Given the description of an element on the screen output the (x, y) to click on. 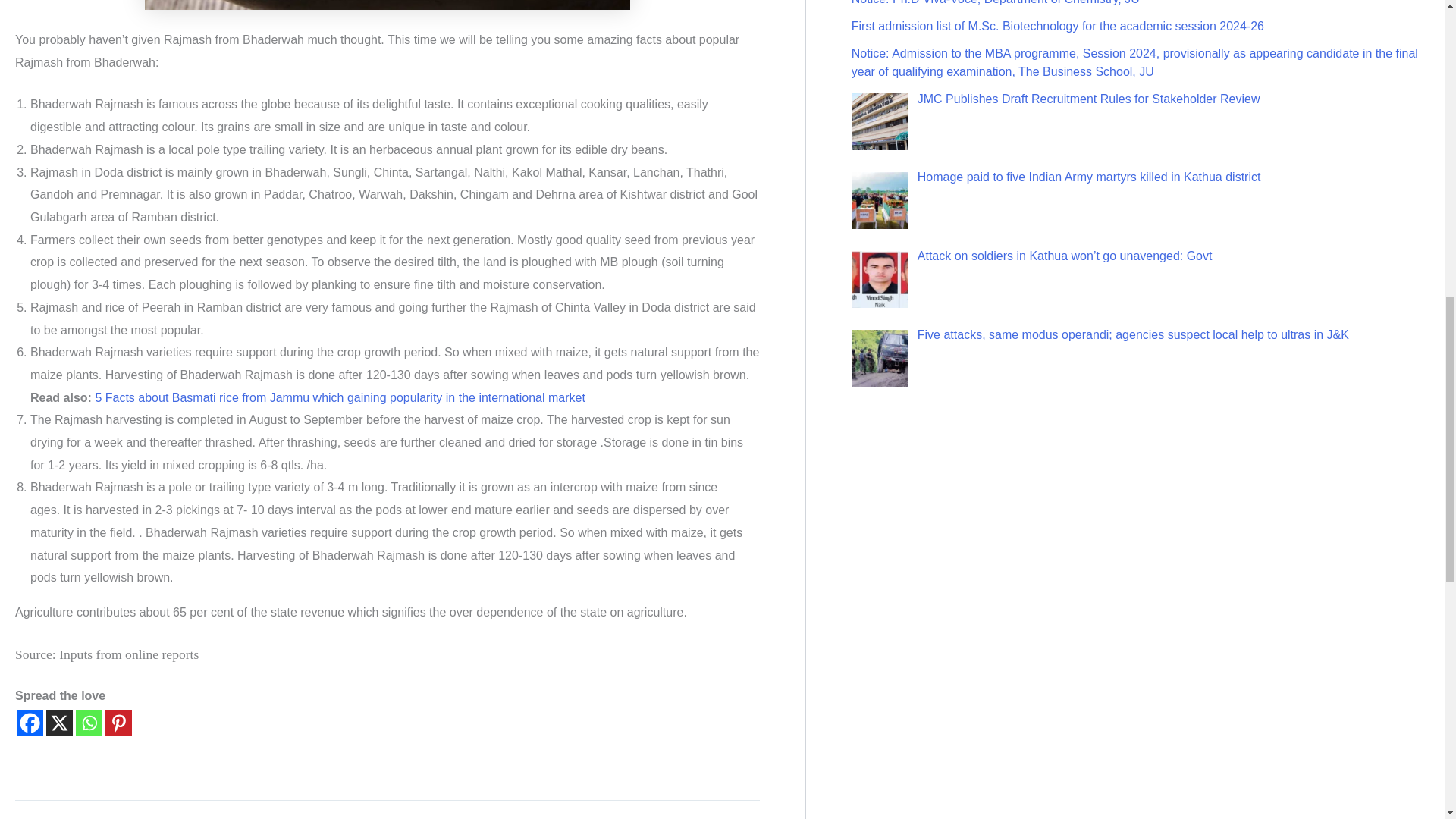
Pinterest (118, 723)
X (59, 723)
Whatsapp (88, 723)
Facebook (29, 723)
